Given the description of an element on the screen output the (x, y) to click on. 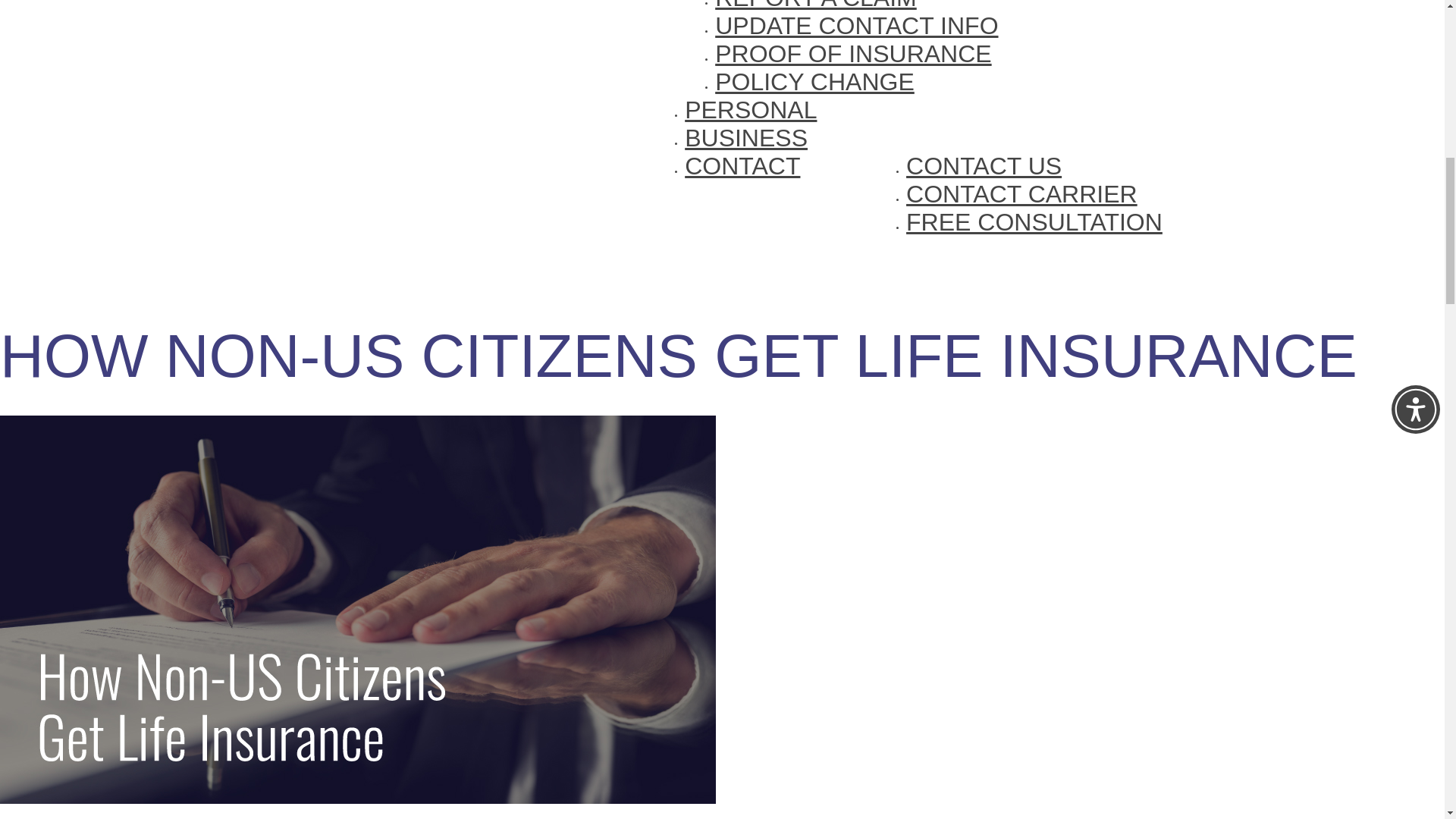
REPORT A CLAIM (815, 5)
PROOF OF INSURANCE (852, 53)
POLICY CHANGE (814, 81)
UPDATE CONTACT INFO (855, 25)
